Given the description of an element on the screen output the (x, y) to click on. 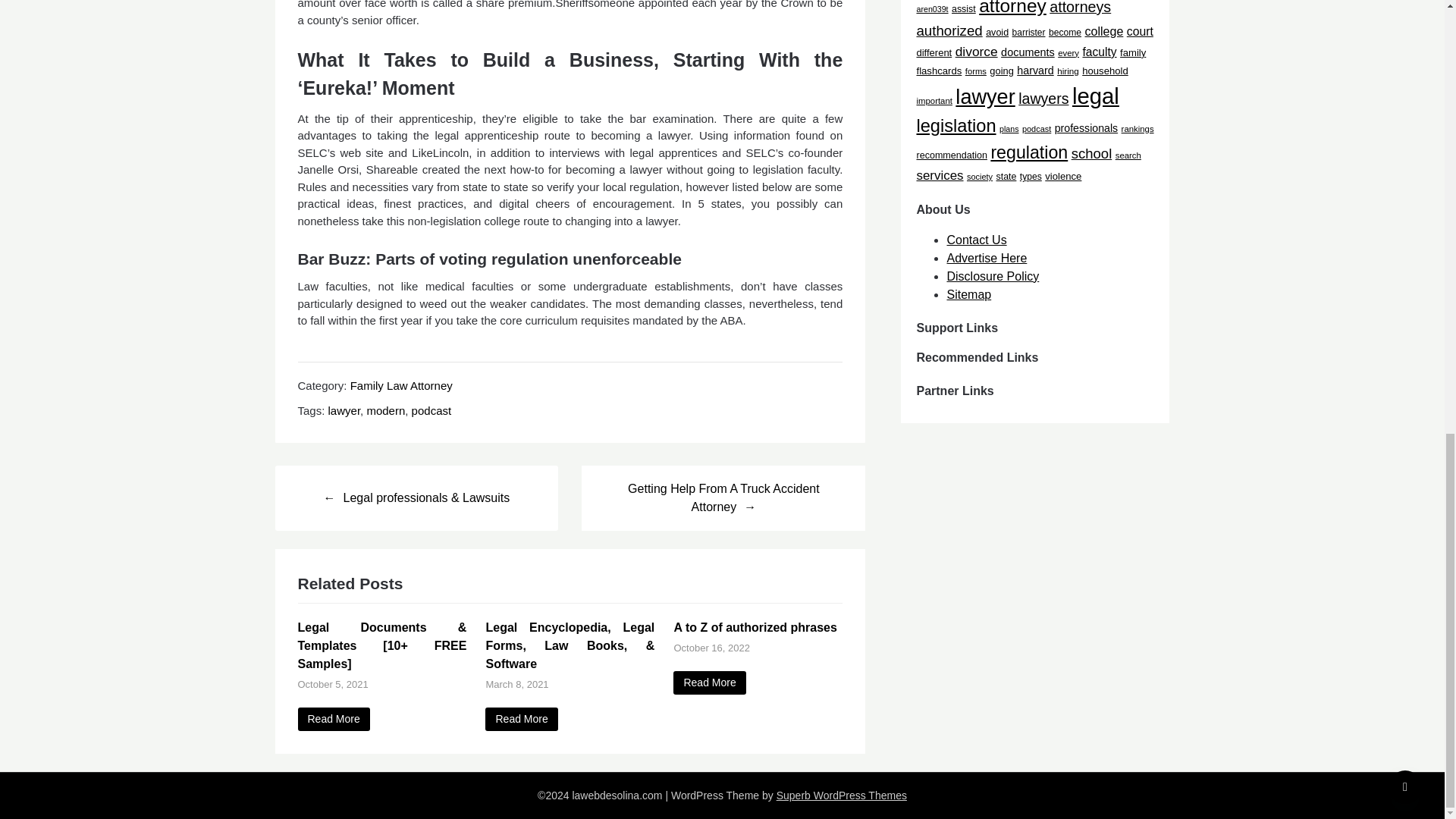
Family Law Attorney (401, 385)
lawyer (345, 410)
Getting Help From A Truck Accident Attorney (722, 497)
modern (385, 410)
A to Z of authorized phrases (708, 682)
podcast (431, 410)
